Given the description of an element on the screen output the (x, y) to click on. 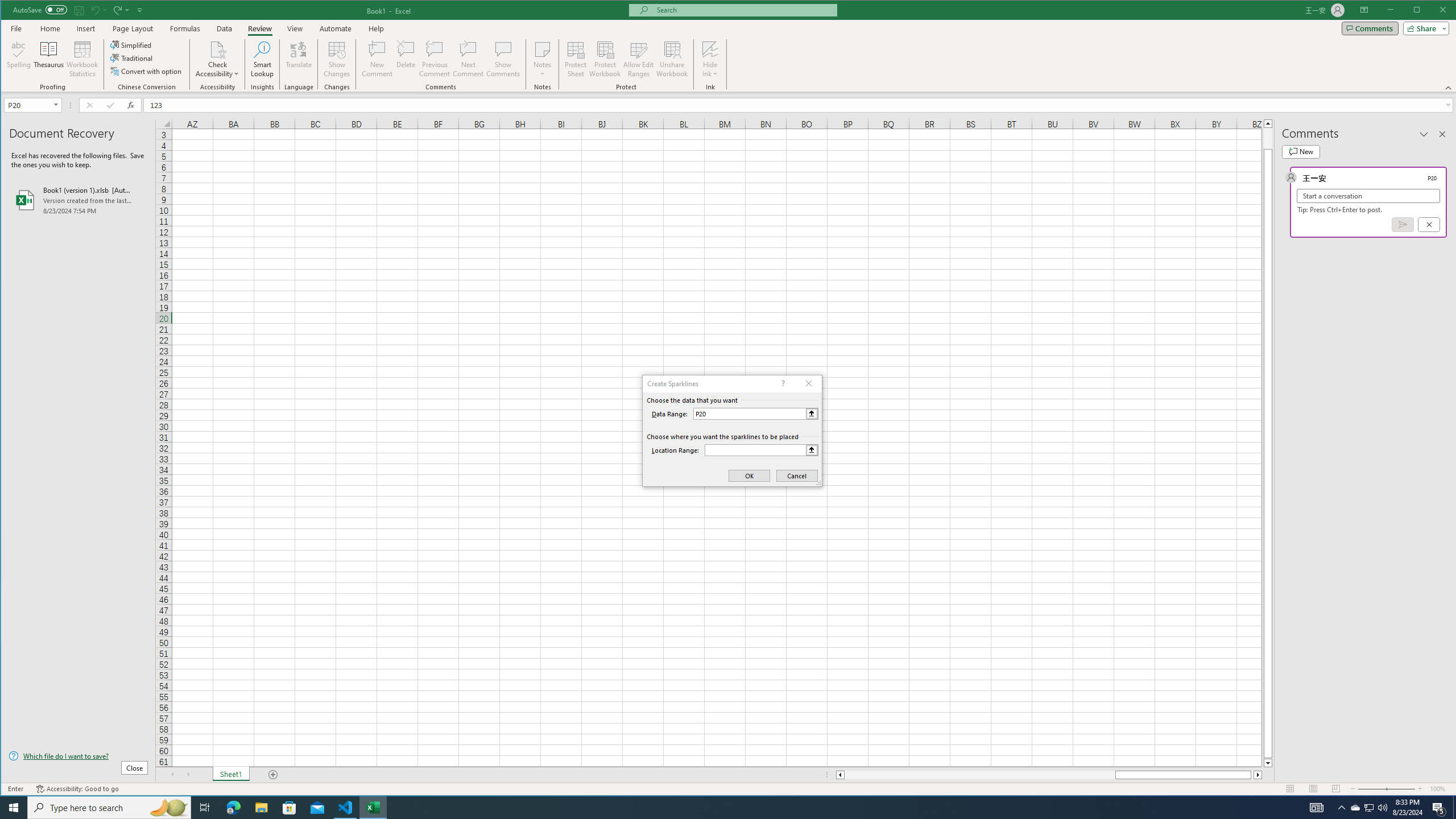
Post comment (Ctrl + Enter) (1402, 224)
Page left (979, 774)
New comment (1300, 151)
Previous Comment (434, 59)
